Given the description of an element on the screen output the (x, y) to click on. 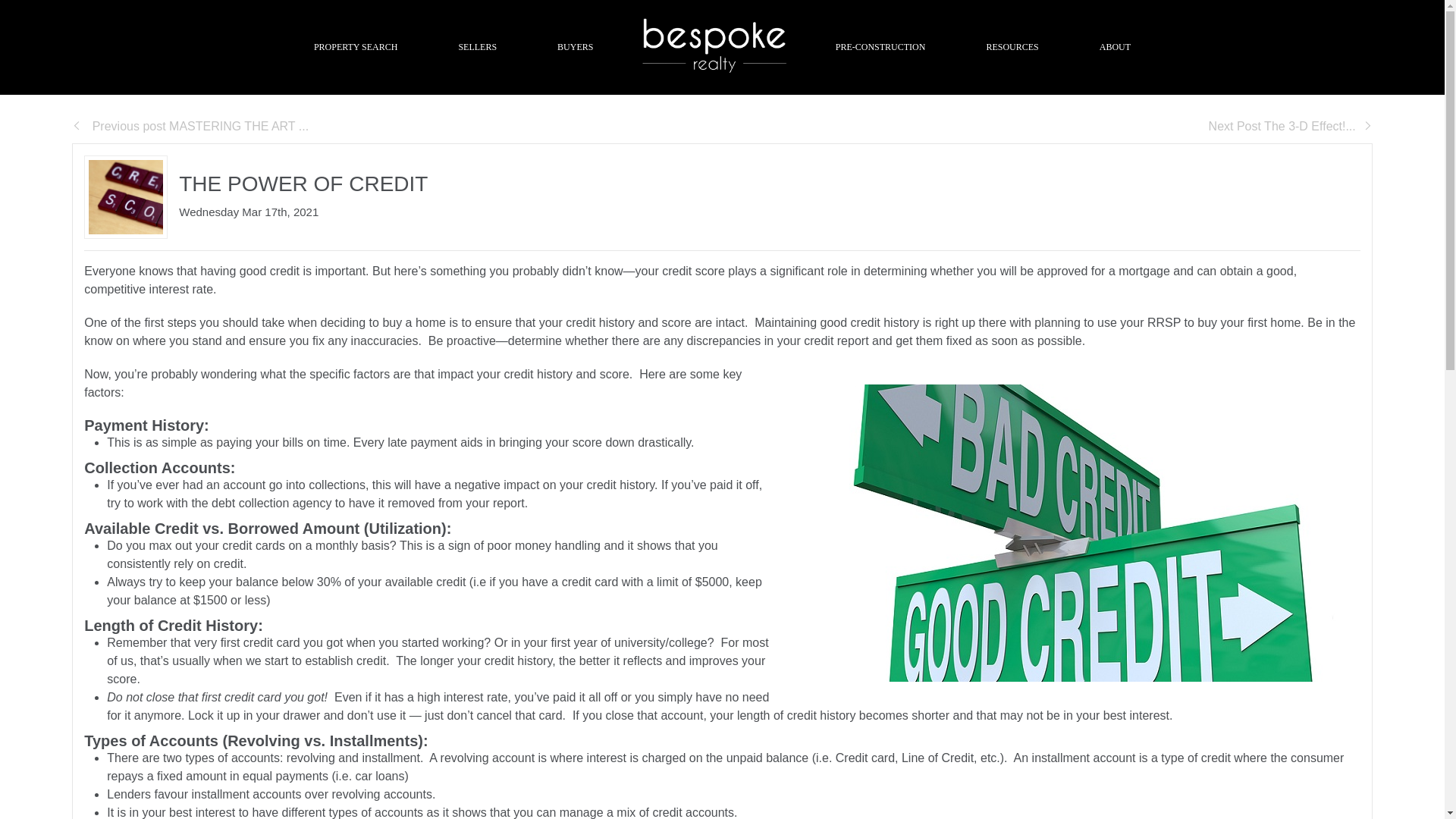
Resources (1011, 47)
Next Post The 3-D Effect!... (1290, 126)
Previous post MASTERING THE ART ... (189, 126)
PRE-CONSTRUCTION (880, 47)
Sellers (477, 47)
Buyers (575, 47)
Property Search (355, 47)
Pre-construction (880, 47)
